Given the description of an element on the screen output the (x, y) to click on. 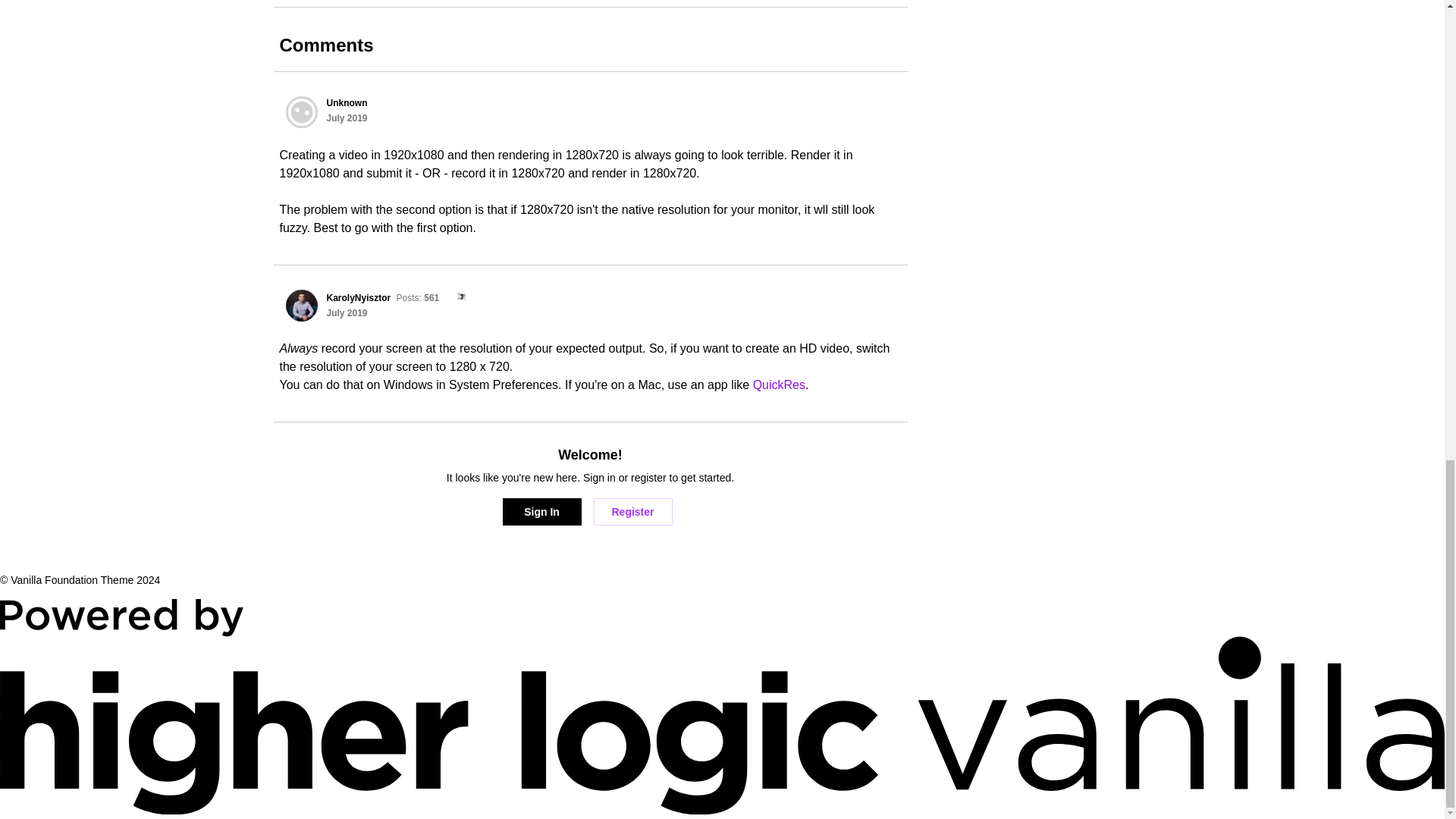
Sign In (541, 511)
KarolyNyisztor (301, 305)
QuickRes (778, 384)
Visionary (456, 297)
July 30, 2019 11:16AM (346, 312)
Register (631, 511)
July 2019 (346, 312)
Unknown (301, 111)
Sign In (541, 511)
KarolyNyisztor (358, 297)
